Given the description of an element on the screen output the (x, y) to click on. 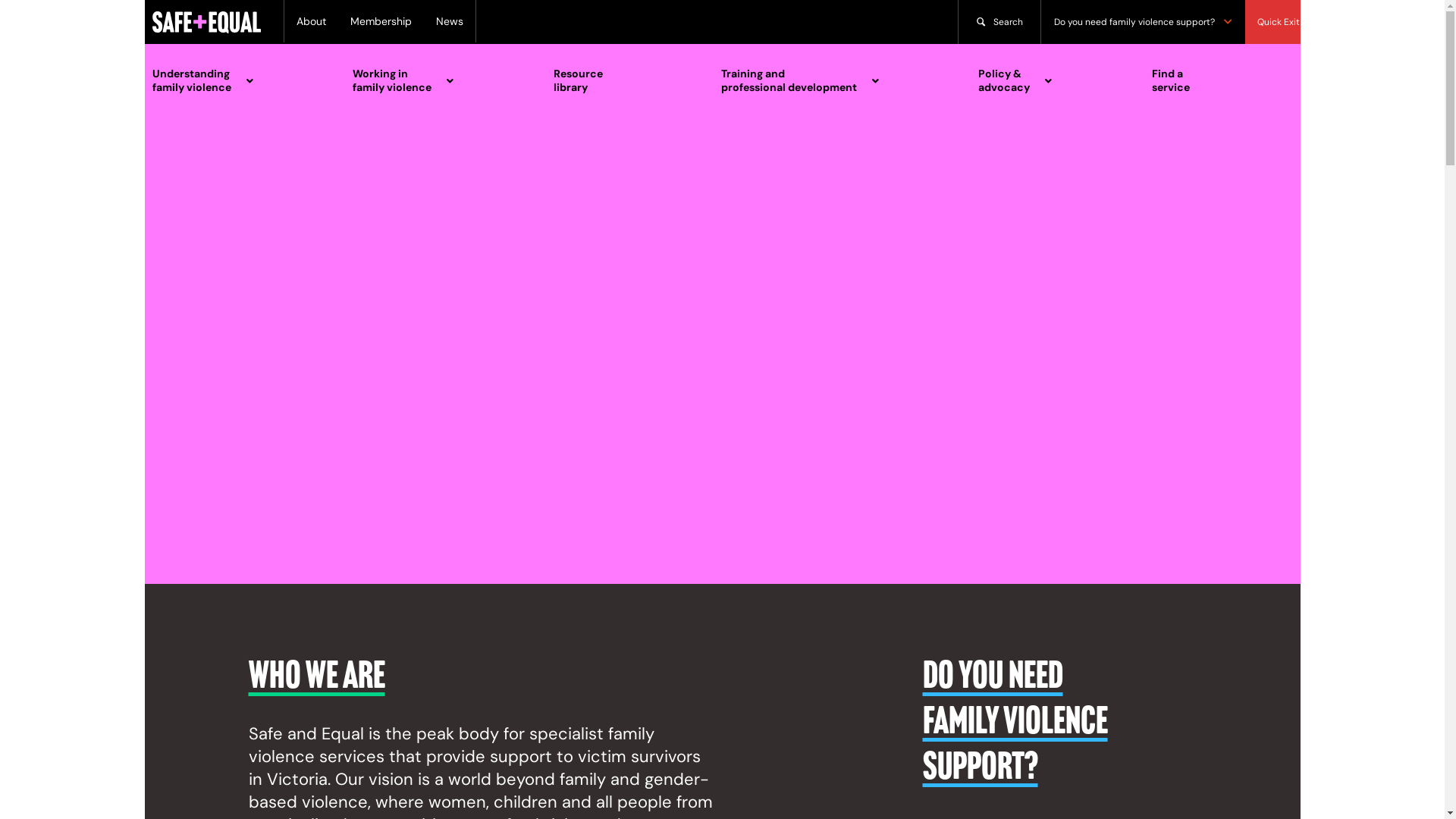
Understanding
family violence Element type: text (236, 79)
Search Element type: text (999, 21)
Find a
service Element type: text (1214, 79)
News Element type: text (448, 21)
Training and
professional development Element type: text (834, 79)
Policy &
advocacy Element type: text (1049, 79)
About Element type: text (310, 21)
Membership Element type: text (380, 21)
Working in
family violence Element type: text (437, 79)
Quick Exit Element type: text (1278, 21)
Do you need family violence support? Element type: text (1142, 21)
Resource
library Element type: text (622, 79)
